Given the description of an element on the screen output the (x, y) to click on. 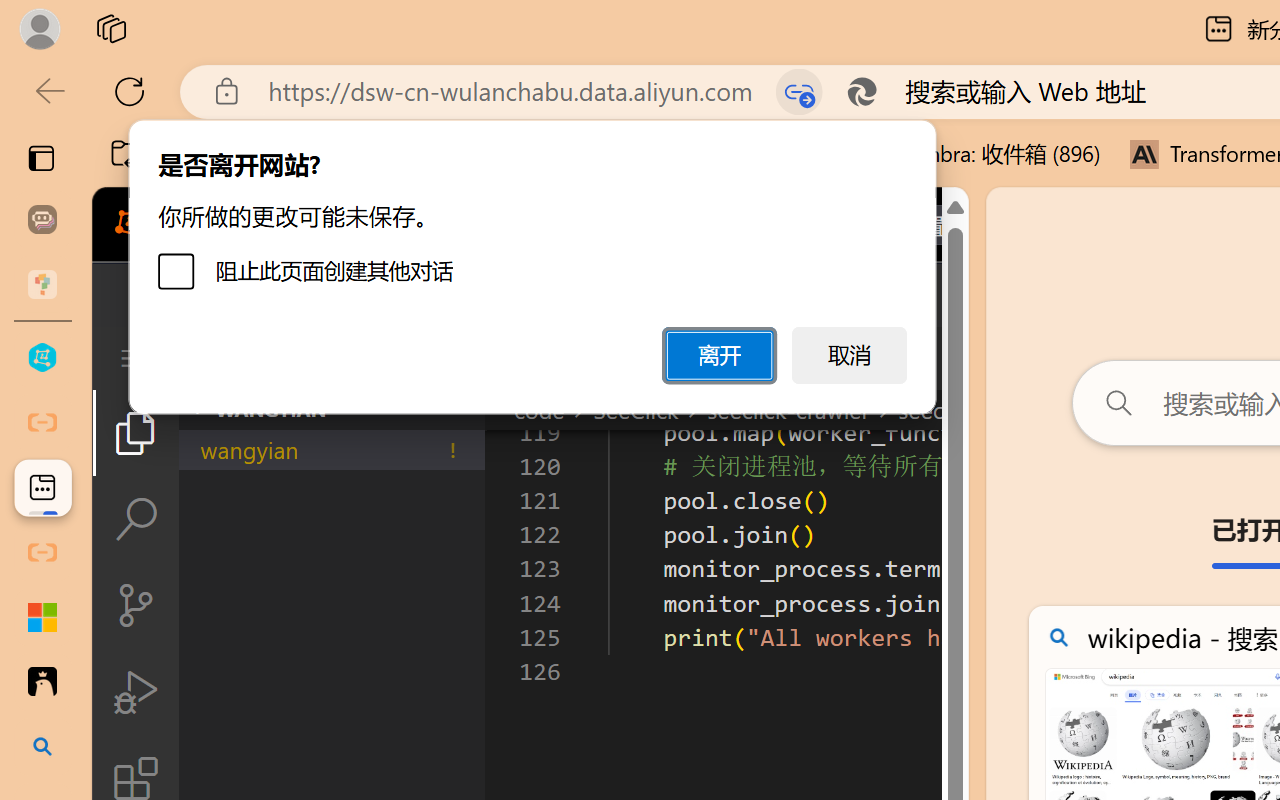
Slide Title (476, 114)
Shape Fill (238, 94)
Shape Fill (238, 114)
Reading Order Pane (529, 114)
Always Use Subtitles (889, 97)
Insert Header Row (727, 112)
Insert Captions (988, 94)
